Given the description of an element on the screen output the (x, y) to click on. 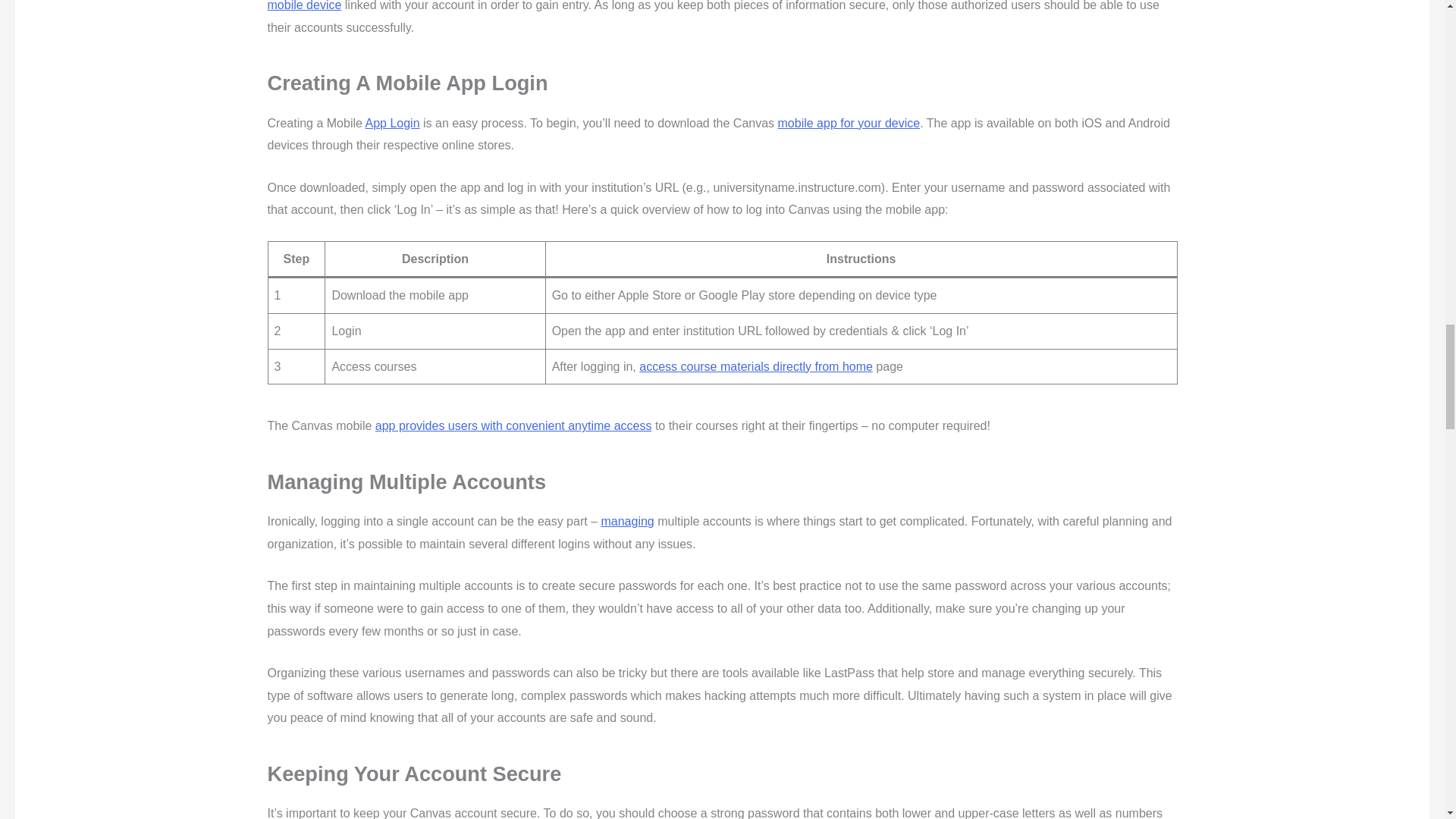
managing (626, 521)
mobile device (303, 5)
app provides users with convenient anytime access (513, 425)
mobile app for your device (848, 123)
access course materials directly from home (755, 366)
App Login (392, 123)
